Given the description of an element on the screen output the (x, y) to click on. 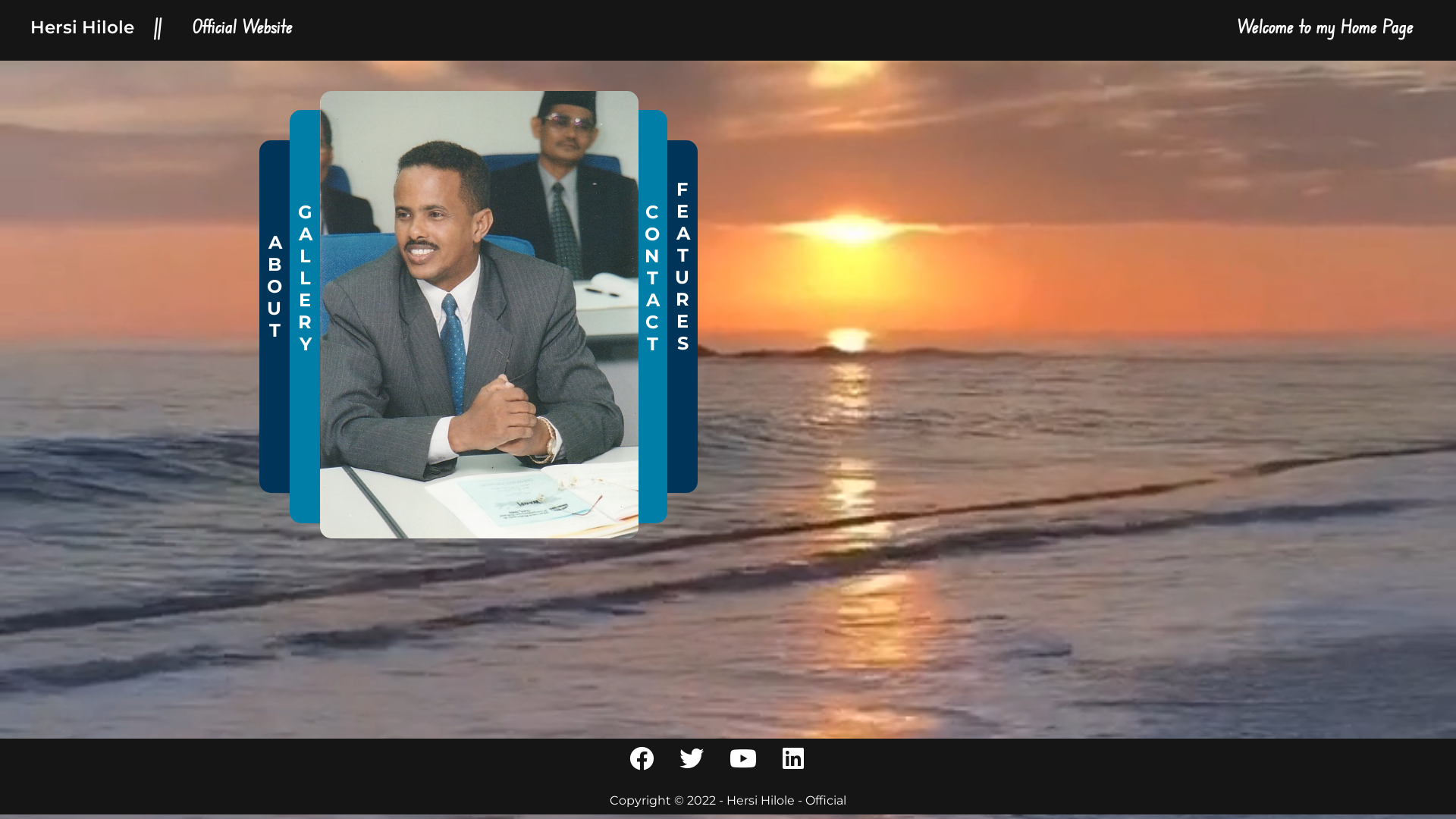
LinkedIN Element type: text (419, 197)
Twitter Element type: text (416, 257)
IQ Coaching College Element type: text (433, 394)
Ahlu Sunnah Wal Jama'ah Element type: text (450, 365)
COCUSS RESEARCH CENTER Element type: text (461, 423)
Facebook Element type: text (426, 227)
